Given the description of an element on the screen output the (x, y) to click on. 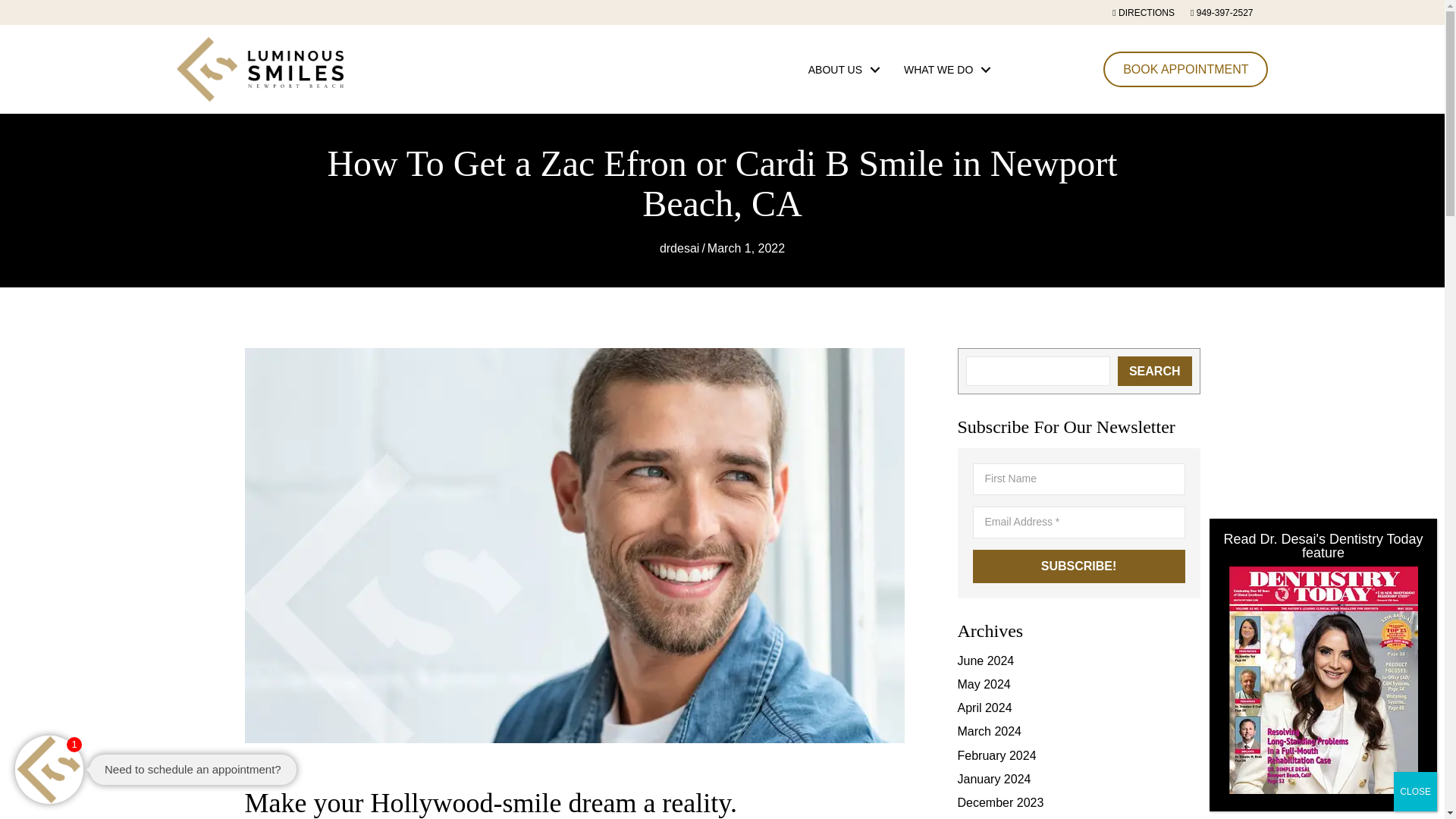
First Name (1078, 479)
Email Address (1078, 522)
January 2024 (993, 779)
April 2024 (983, 707)
March 2024 (989, 730)
WHAT WE DO (943, 69)
luminous-logo-nav (259, 69)
DIRECTIONS (1150, 12)
BOOK APPOINTMENT (1185, 68)
drdesai (678, 247)
HelloBox Contact Widget (174, 769)
June 2024 (984, 660)
December 2023 (999, 802)
ABOUT US (840, 69)
